Given the description of an element on the screen output the (x, y) to click on. 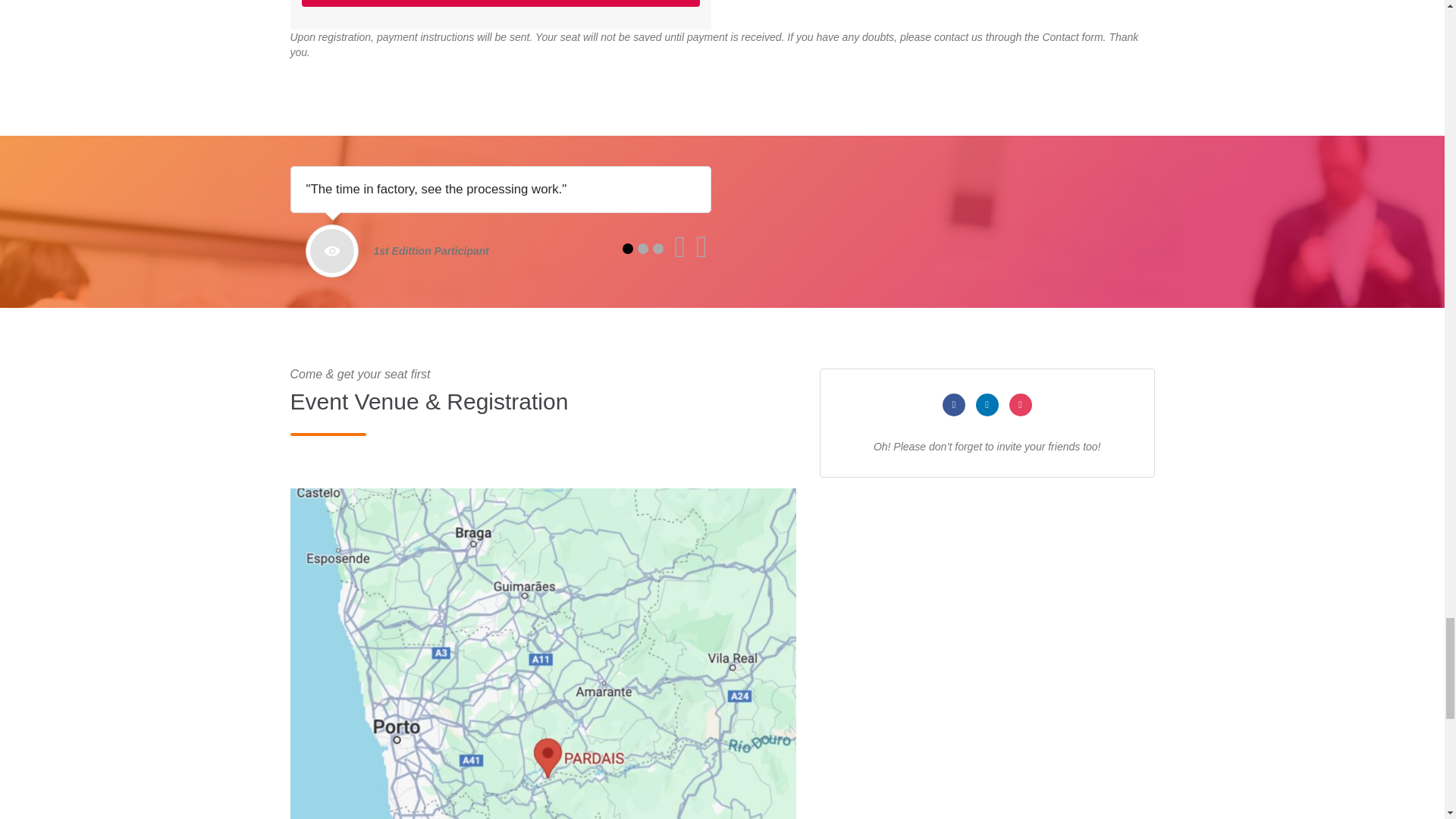
2 (642, 248)
1 (626, 248)
3 (657, 248)
Save Your Seat (500, 3)
